Given the description of an element on the screen output the (x, y) to click on. 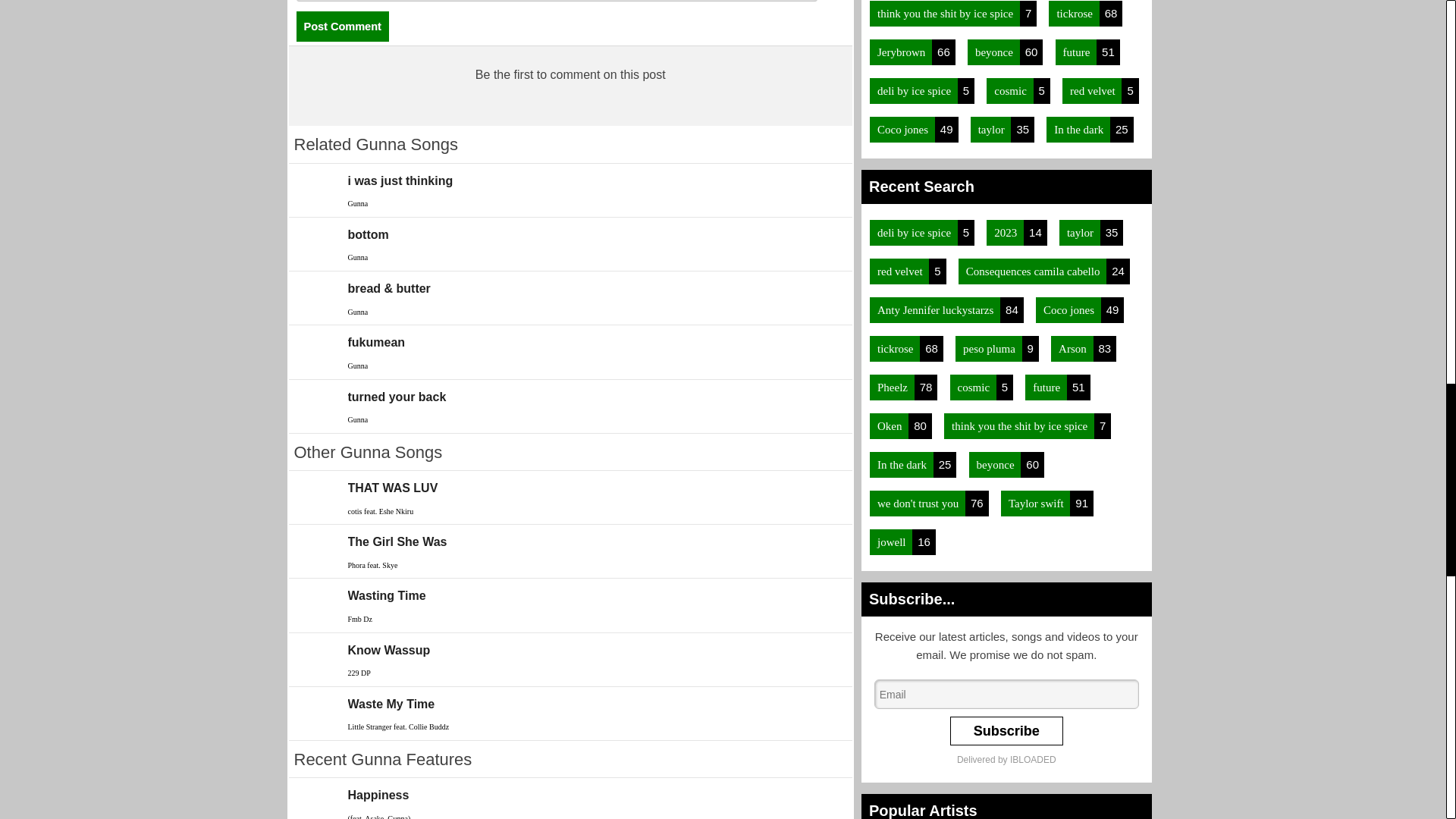
Post Comment (341, 26)
Subscribe (1006, 730)
